Given the description of an element on the screen output the (x, y) to click on. 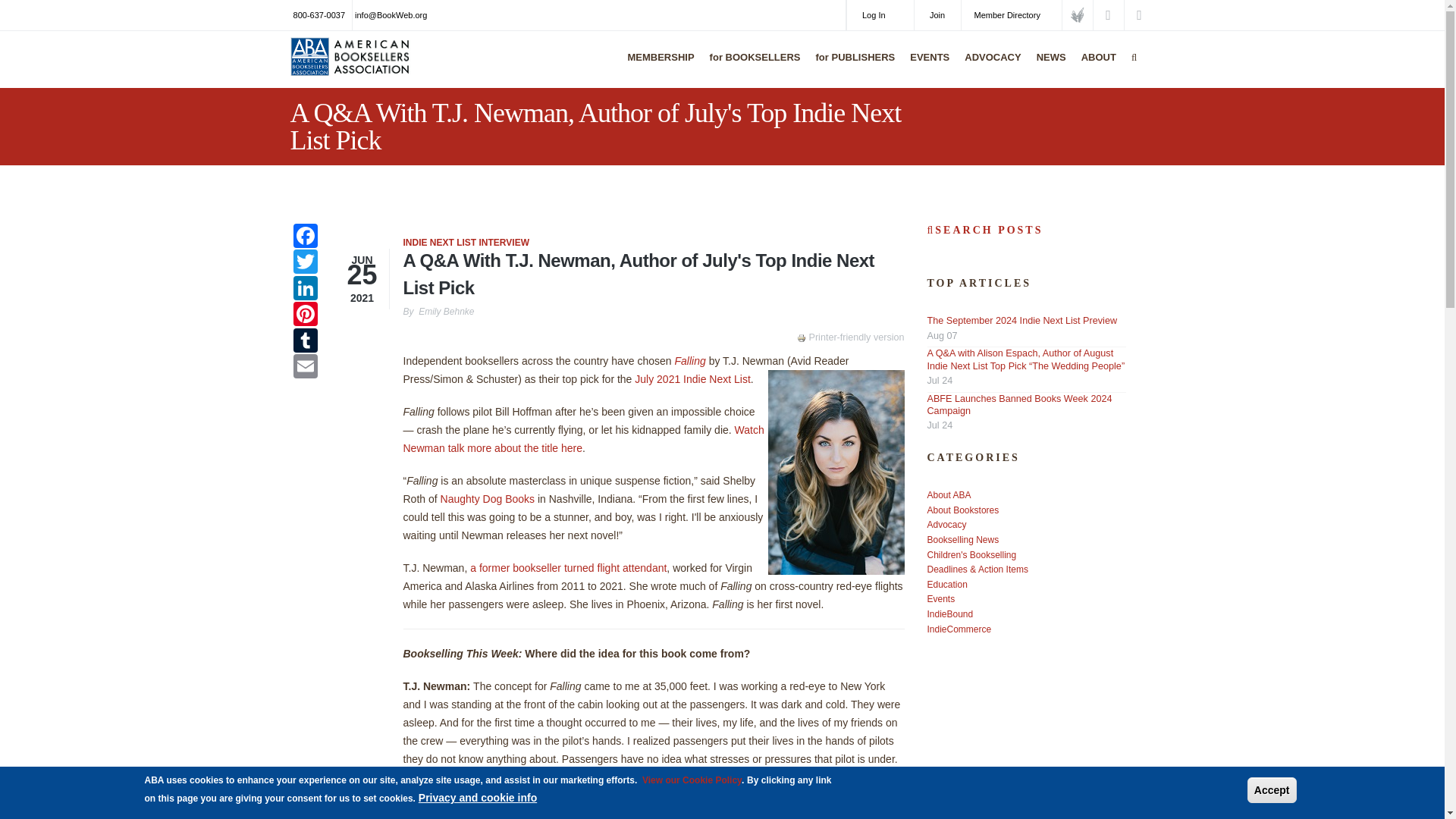
for BOOKSELLERS (751, 66)
for BOOKSELLERS (751, 66)
Privacy and cookie info (478, 797)
MEMBERSHIP (656, 66)
Accept (1272, 790)
EVENTS (925, 66)
ABOUT (1094, 66)
View our Cookie Policy (691, 779)
for PUBLISHERS (852, 66)
Printer-friendly version (802, 338)
